Given the description of an element on the screen output the (x, y) to click on. 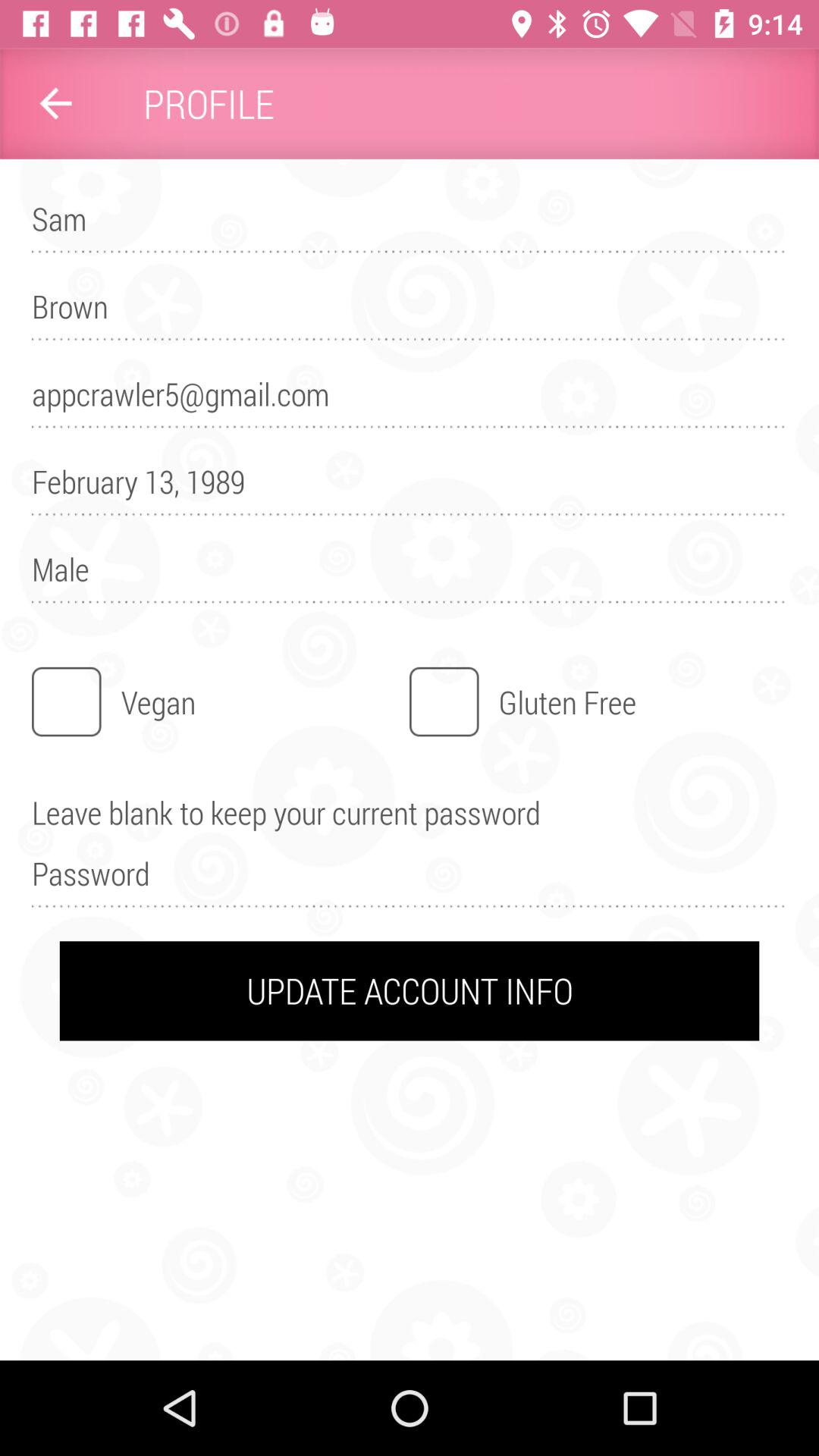
scroll until the appcrawler5@gmail.com icon (409, 400)
